Given the description of an element on the screen output the (x, y) to click on. 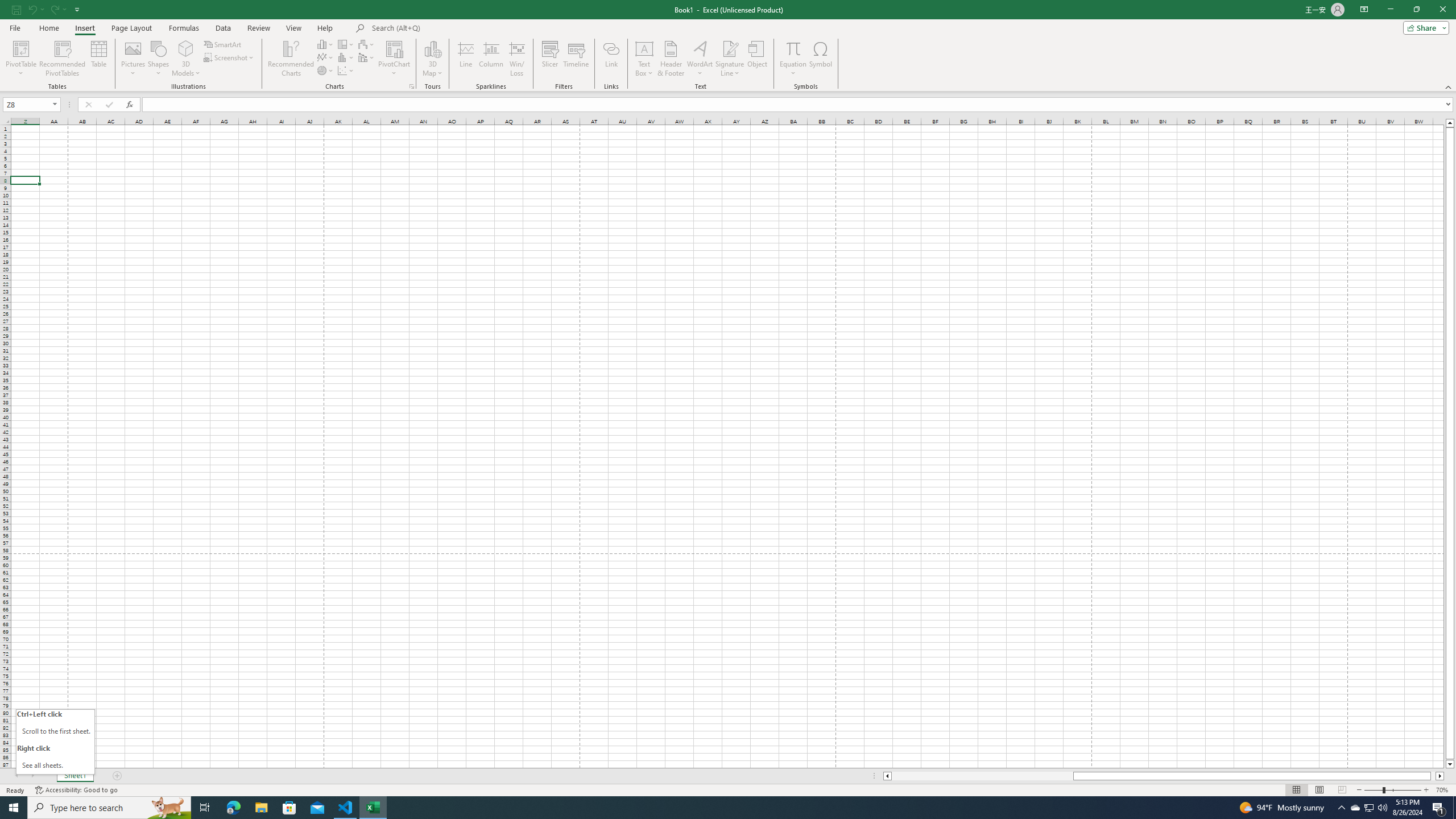
Draw Horizontal Text Box (643, 48)
Pictures (133, 58)
Win/Loss (516, 58)
Slicer... (550, 58)
Symbol... (821, 58)
Restore Down (1416, 9)
